Given the description of an element on the screen output the (x, y) to click on. 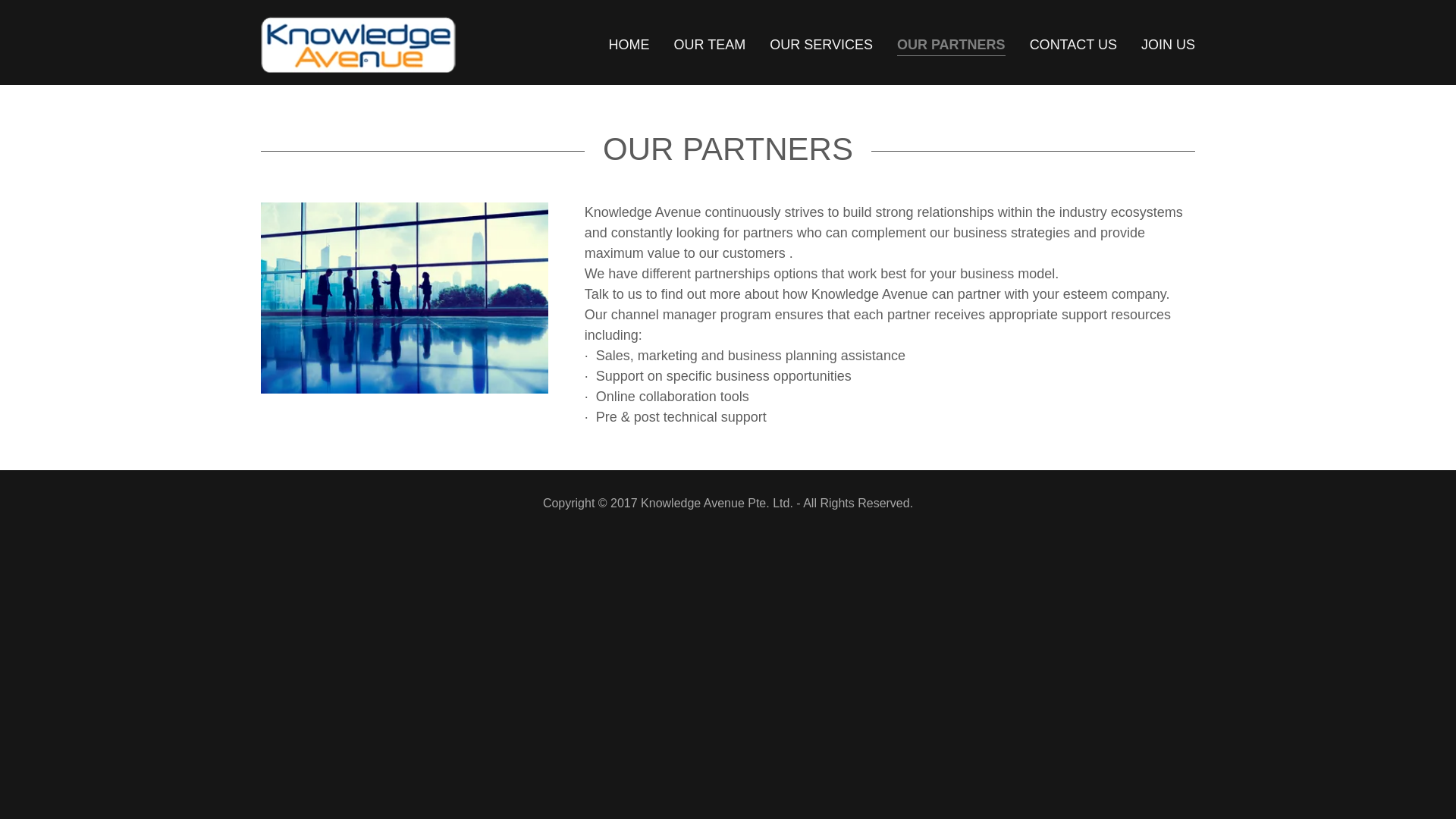
Knowledge Avenue Pte. Ltd. (362, 41)
OUR TEAM (710, 43)
JOIN US (1168, 43)
CONTACT US (1073, 43)
HOME (628, 43)
OUR PARTNERS (951, 45)
OUR SERVICES (821, 43)
